Given the description of an element on the screen output the (x, y) to click on. 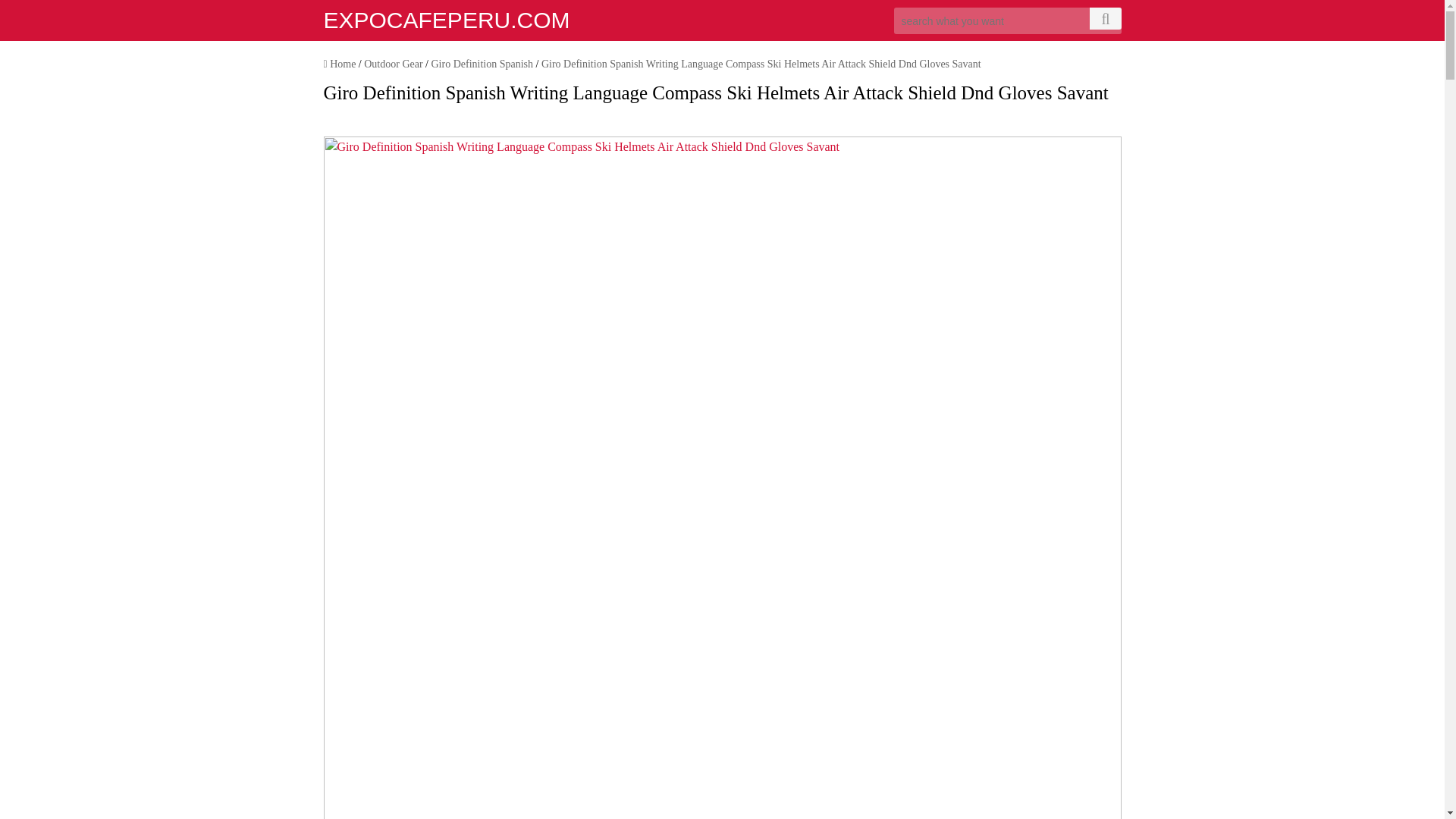
EXPOCAFEPERU.COM (446, 20)
Giro Definition Spanish (481, 63)
Home (339, 63)
Outdoor Gear (393, 63)
